Given the description of an element on the screen output the (x, y) to click on. 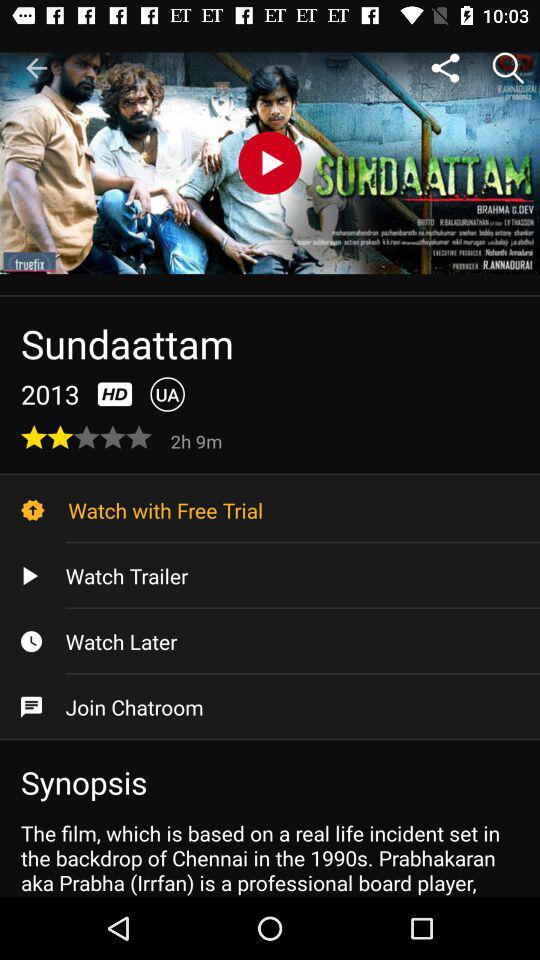
click item below the watch later icon (270, 707)
